Given the description of an element on the screen output the (x, y) to click on. 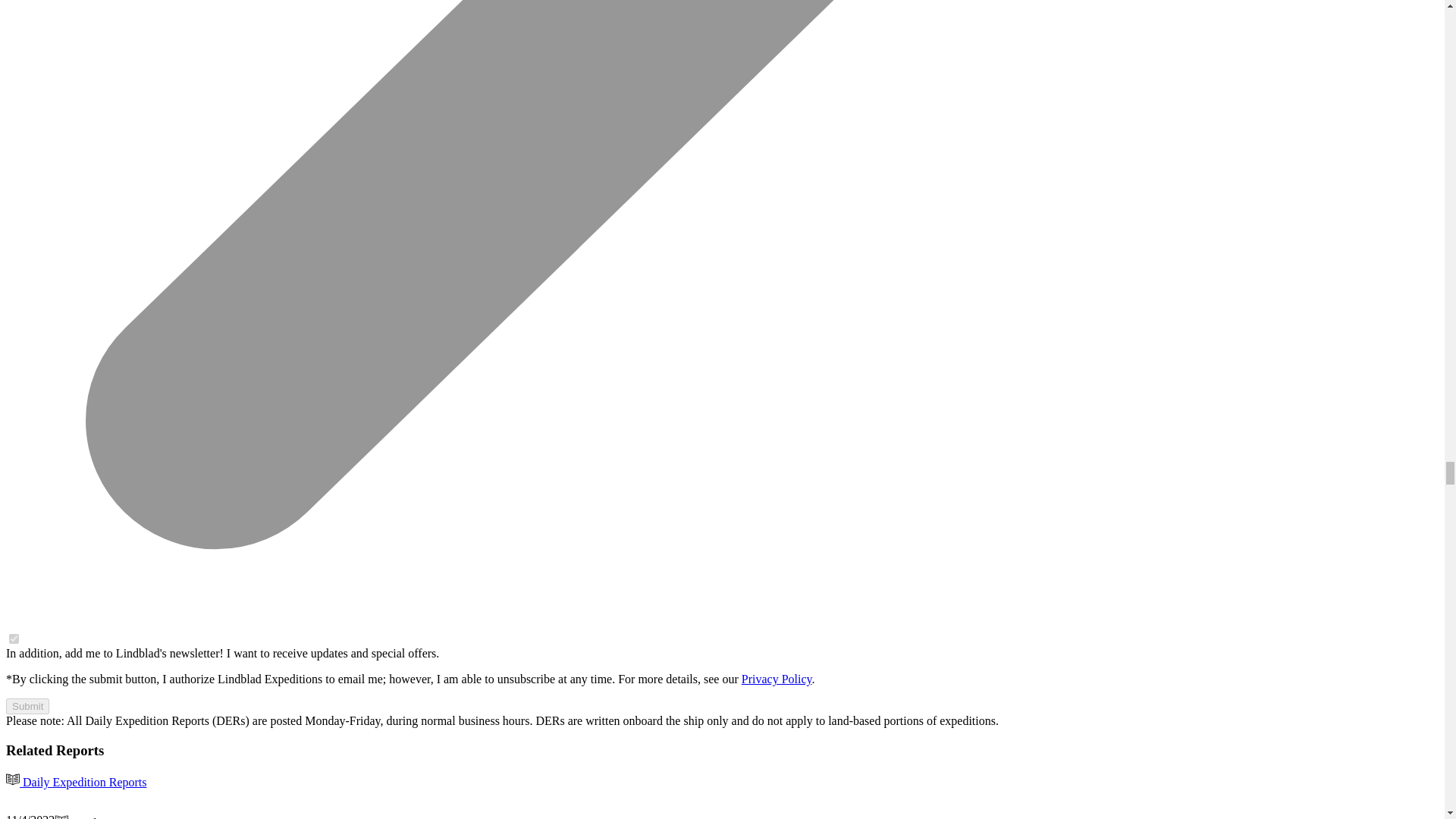
on (13, 638)
